Given the description of an element on the screen output the (x, y) to click on. 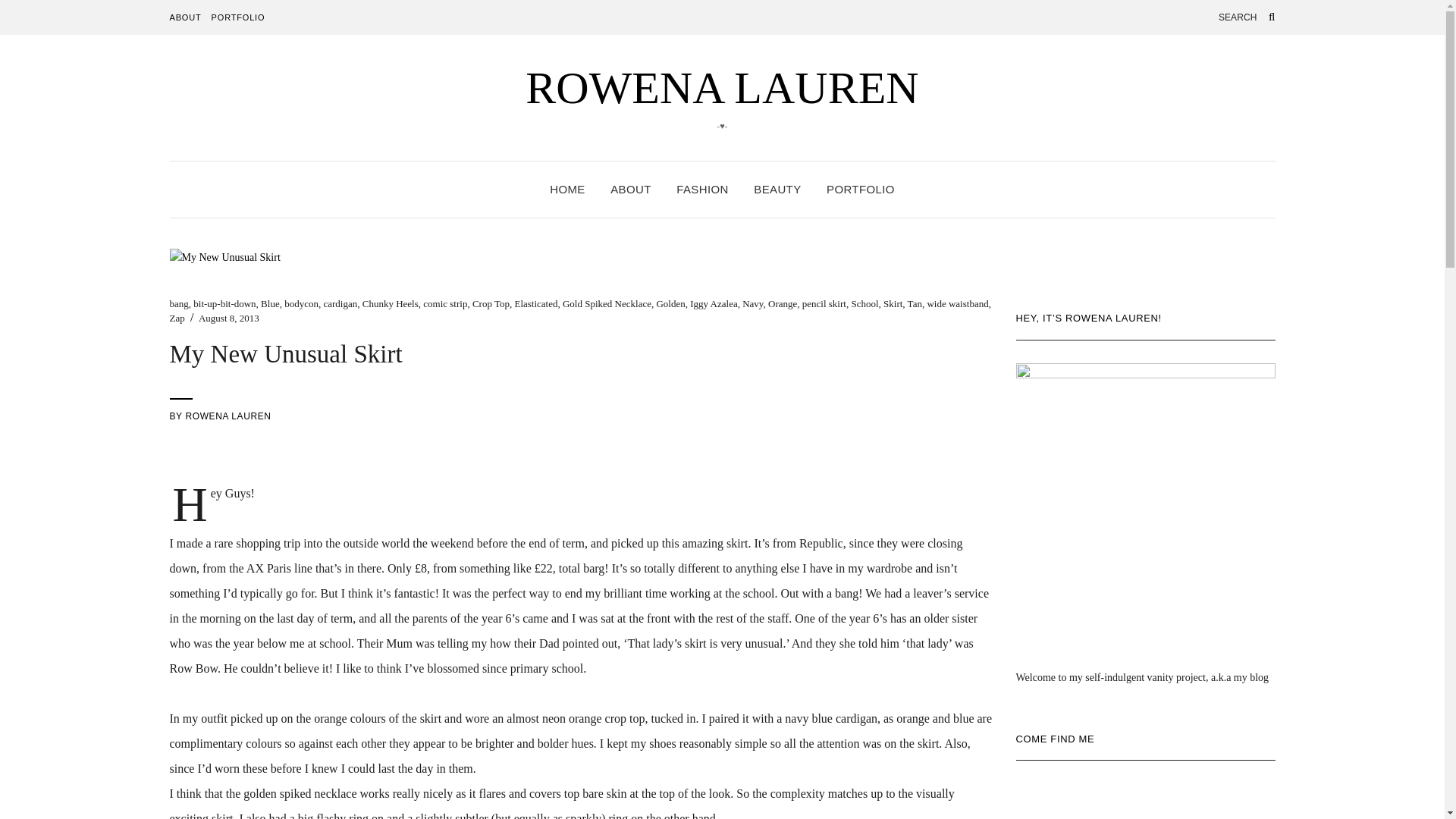
ROWENA LAUREN (227, 416)
School (863, 303)
bang (179, 303)
ROWENA LAUREN (721, 88)
Orange (782, 303)
Iggy Azalea (713, 303)
bodycon (300, 303)
Skirt (892, 303)
Zap (177, 317)
Gold Spiked Necklace (606, 303)
ABOUT (186, 17)
Elasticated (535, 303)
PORTFOLIO (237, 17)
Navy (752, 303)
Tan (914, 303)
